Given the description of an element on the screen output the (x, y) to click on. 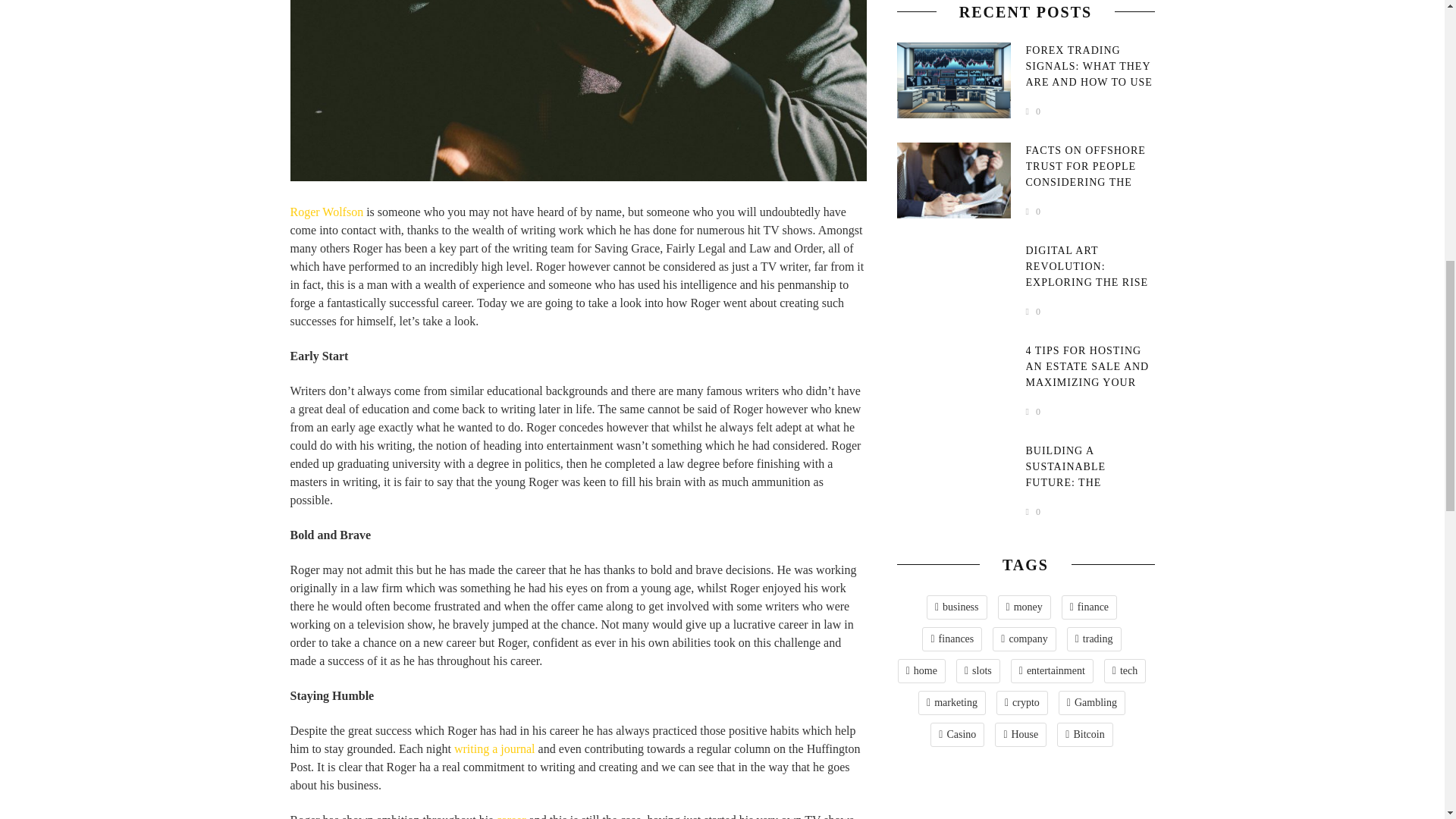
Roger Wolfson (325, 211)
writing a journal (494, 748)
career (510, 816)
